Given the description of an element on the screen output the (x, y) to click on. 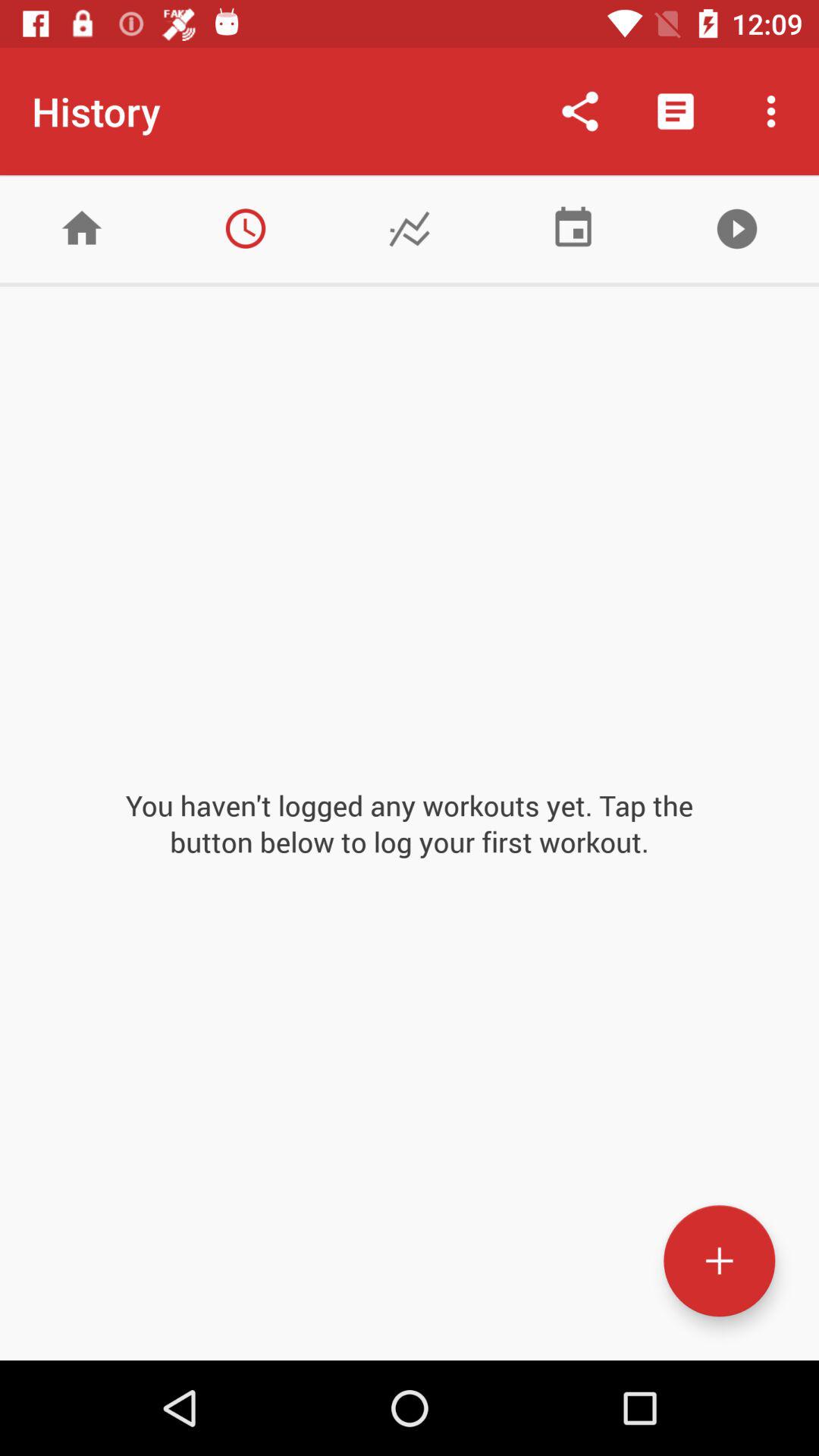
toggle calender (573, 228)
